Given the description of an element on the screen output the (x, y) to click on. 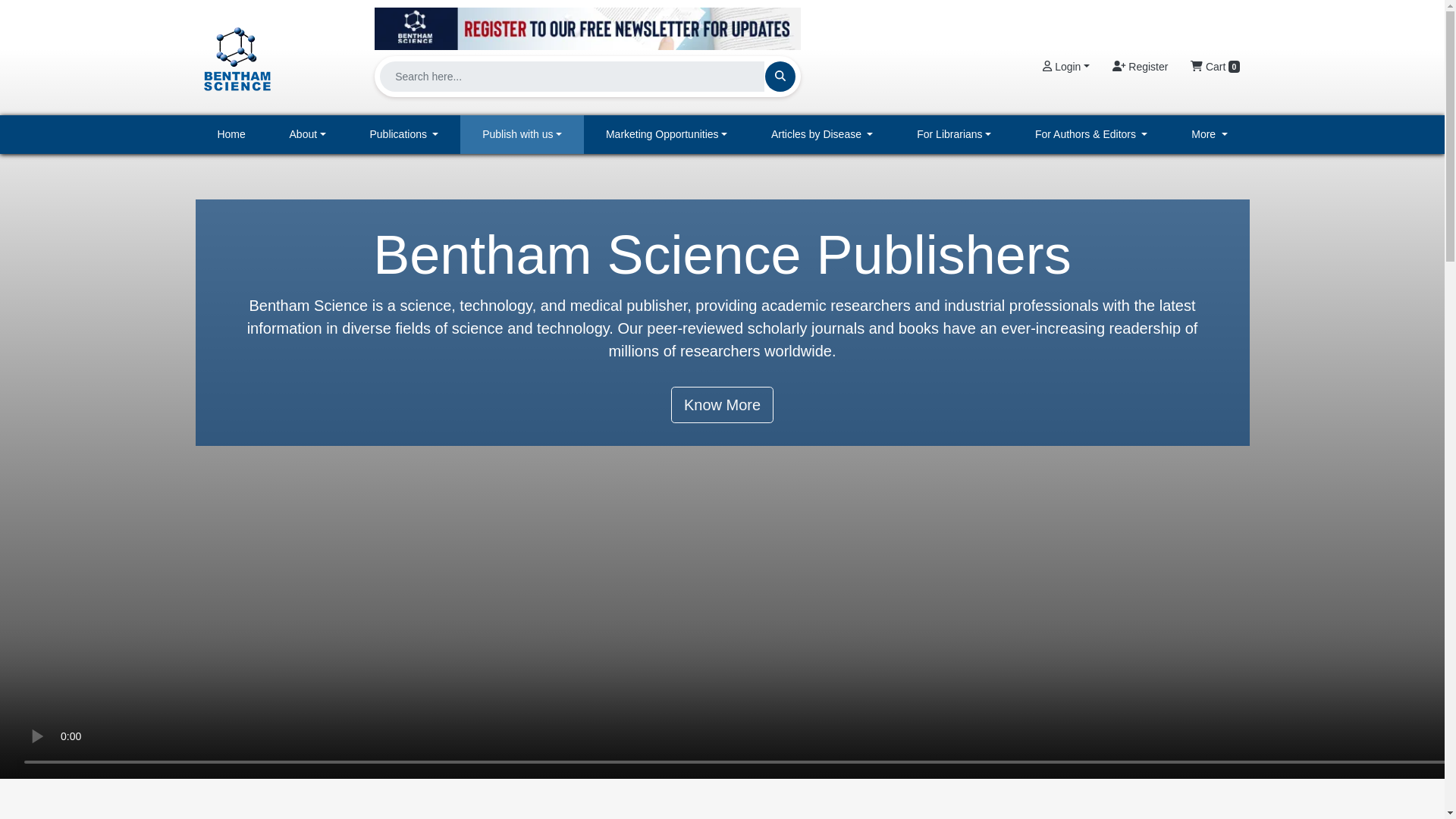
Register (1139, 67)
newsletter banner (587, 28)
Publications (404, 134)
Search Button (779, 76)
newsletter banner (587, 24)
Cart 0 (1214, 67)
Home (231, 134)
About (307, 134)
Login (1065, 67)
